Given the description of an element on the screen output the (x, y) to click on. 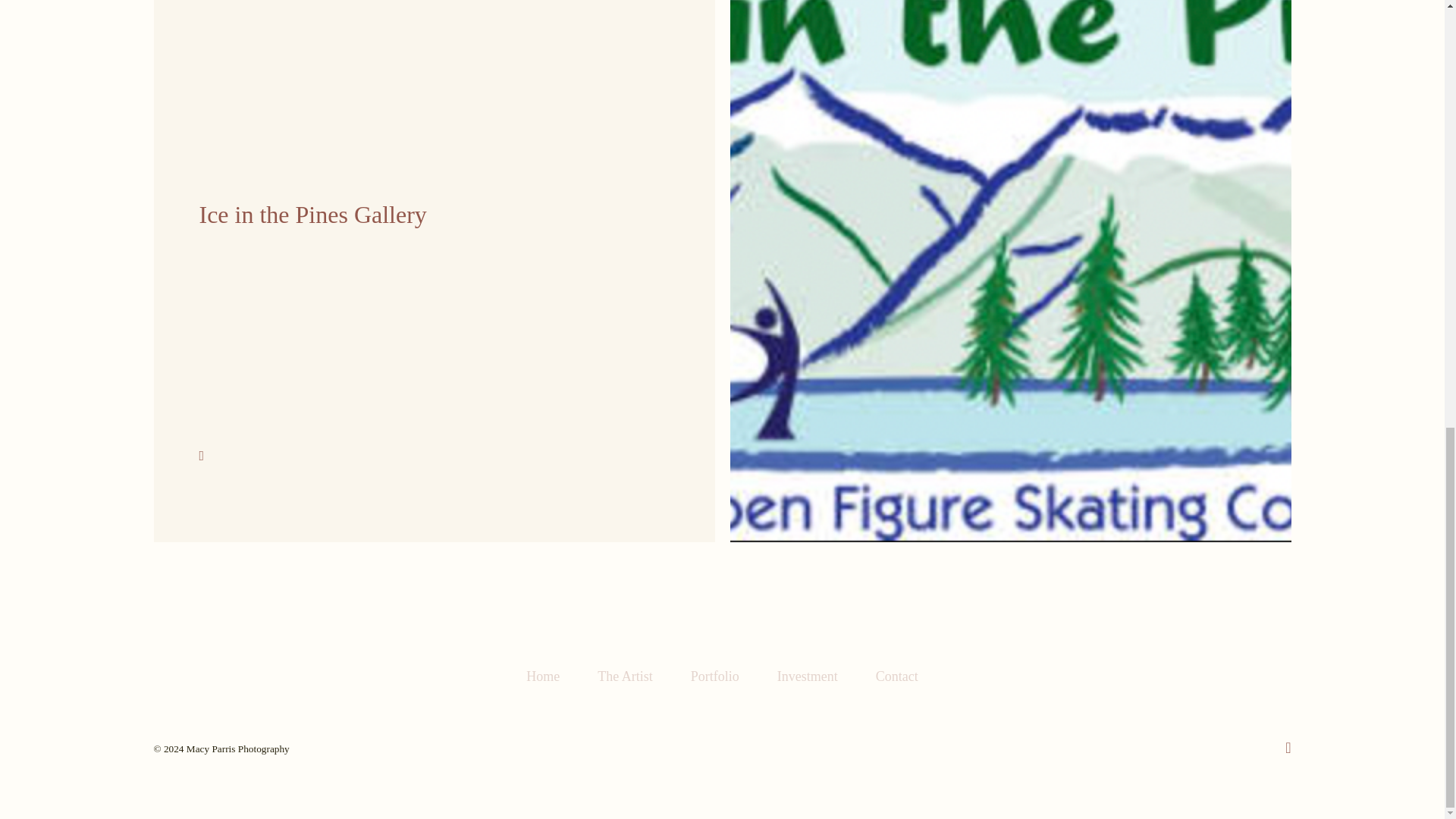
Home (714, 677)
The Artist (542, 677)
